Given the description of an element on the screen output the (x, y) to click on. 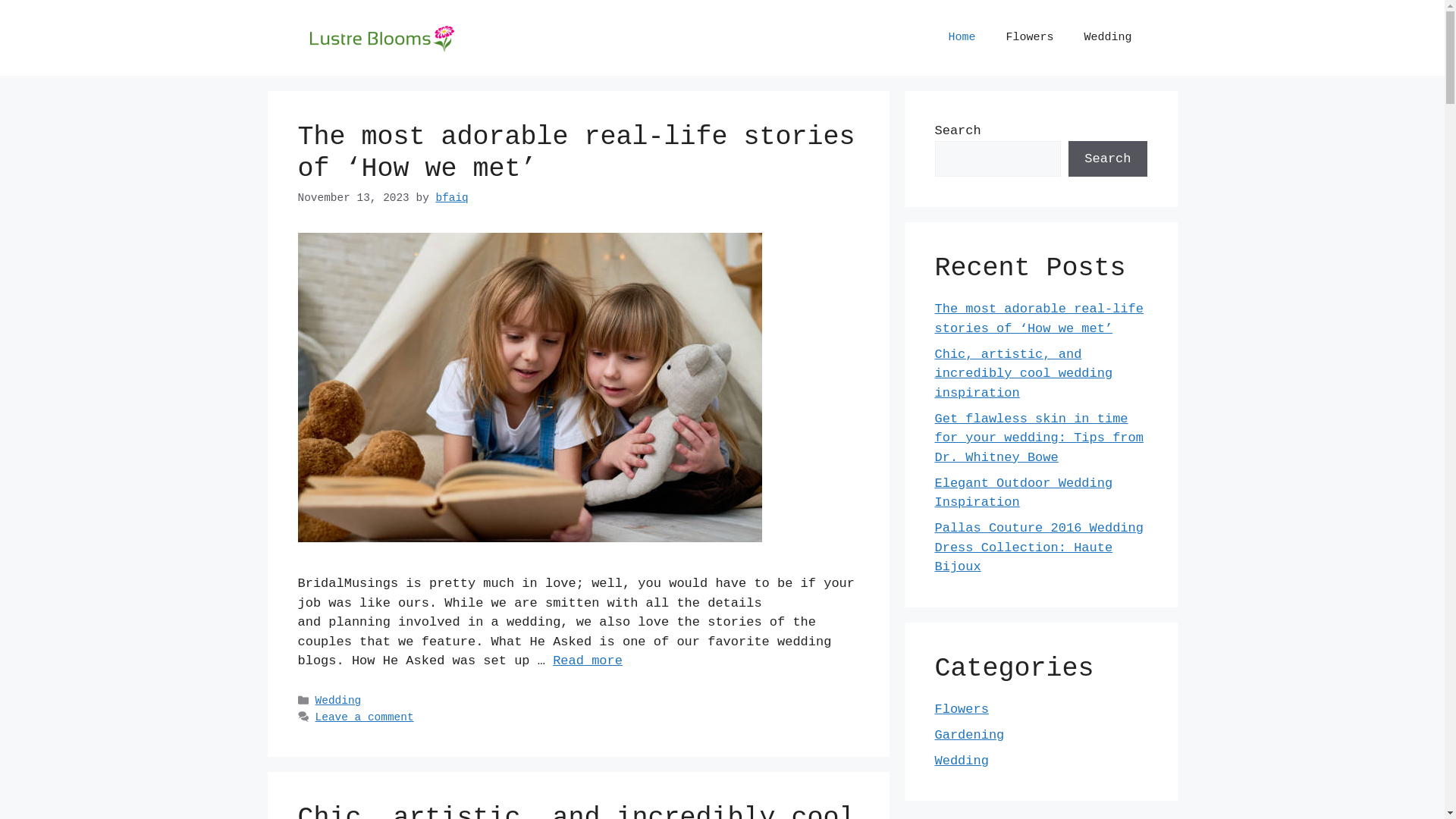
Flowers Element type: text (1029, 37)
Wedding Element type: text (961, 760)
Leave a comment Element type: text (364, 717)
Flowers Element type: text (961, 709)
Read more Element type: text (587, 660)
Pallas Couture 2016 Wedding Dress Collection: Haute Bijoux Element type: text (1038, 547)
Chic, artistic, and incredibly cool wedding inspiration Element type: text (1023, 373)
Wedding Element type: text (338, 700)
Elegant Outdoor Wedding Inspiration Element type: text (1023, 493)
bfaiq Element type: text (451, 197)
Home Element type: text (961, 37)
Gardening Element type: text (969, 735)
Search Element type: text (1107, 159)
Wedding Element type: text (1107, 37)
